Given the description of an element on the screen output the (x, y) to click on. 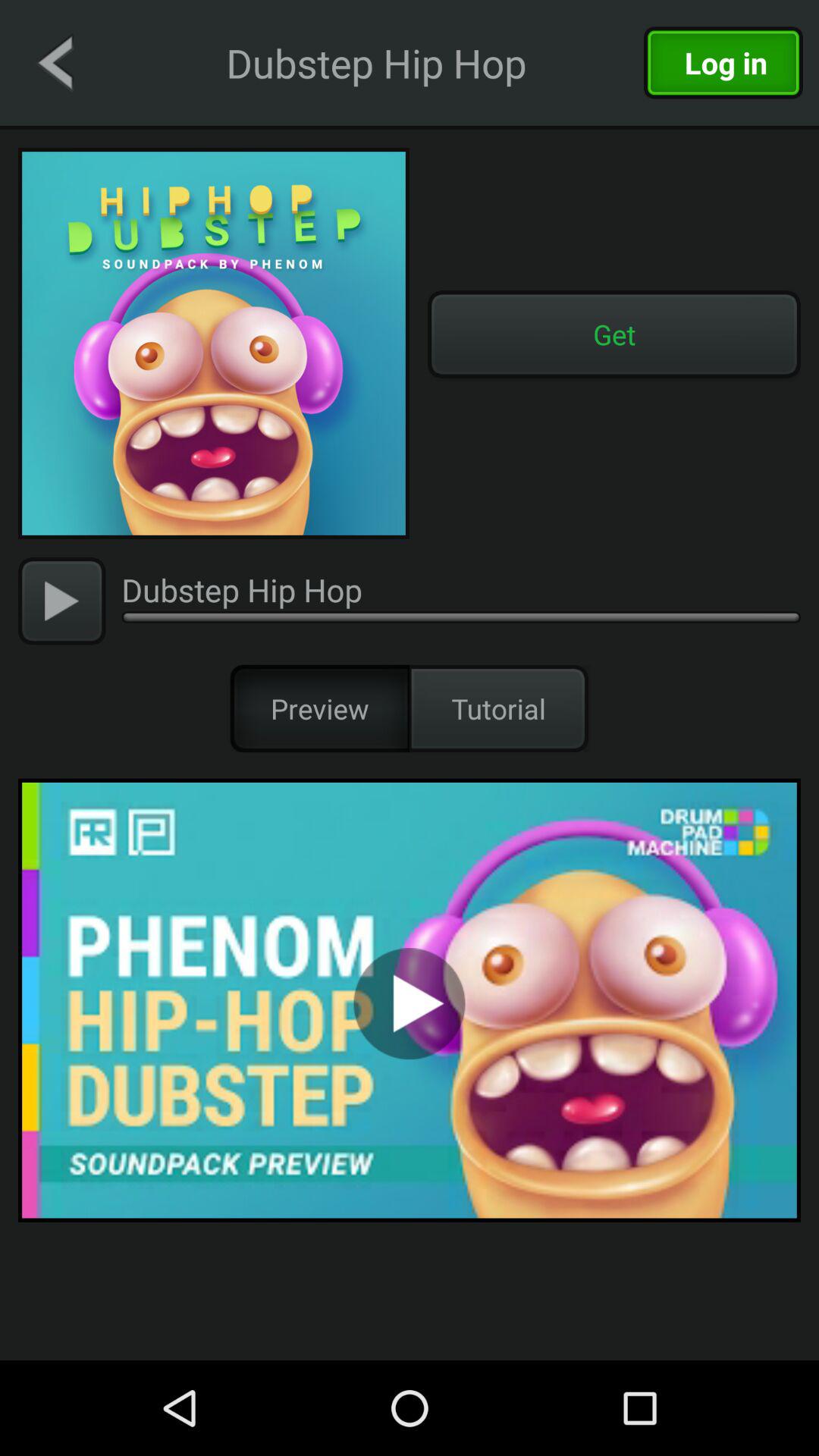
tab to play select to play album (409, 1000)
